Given the description of an element on the screen output the (x, y) to click on. 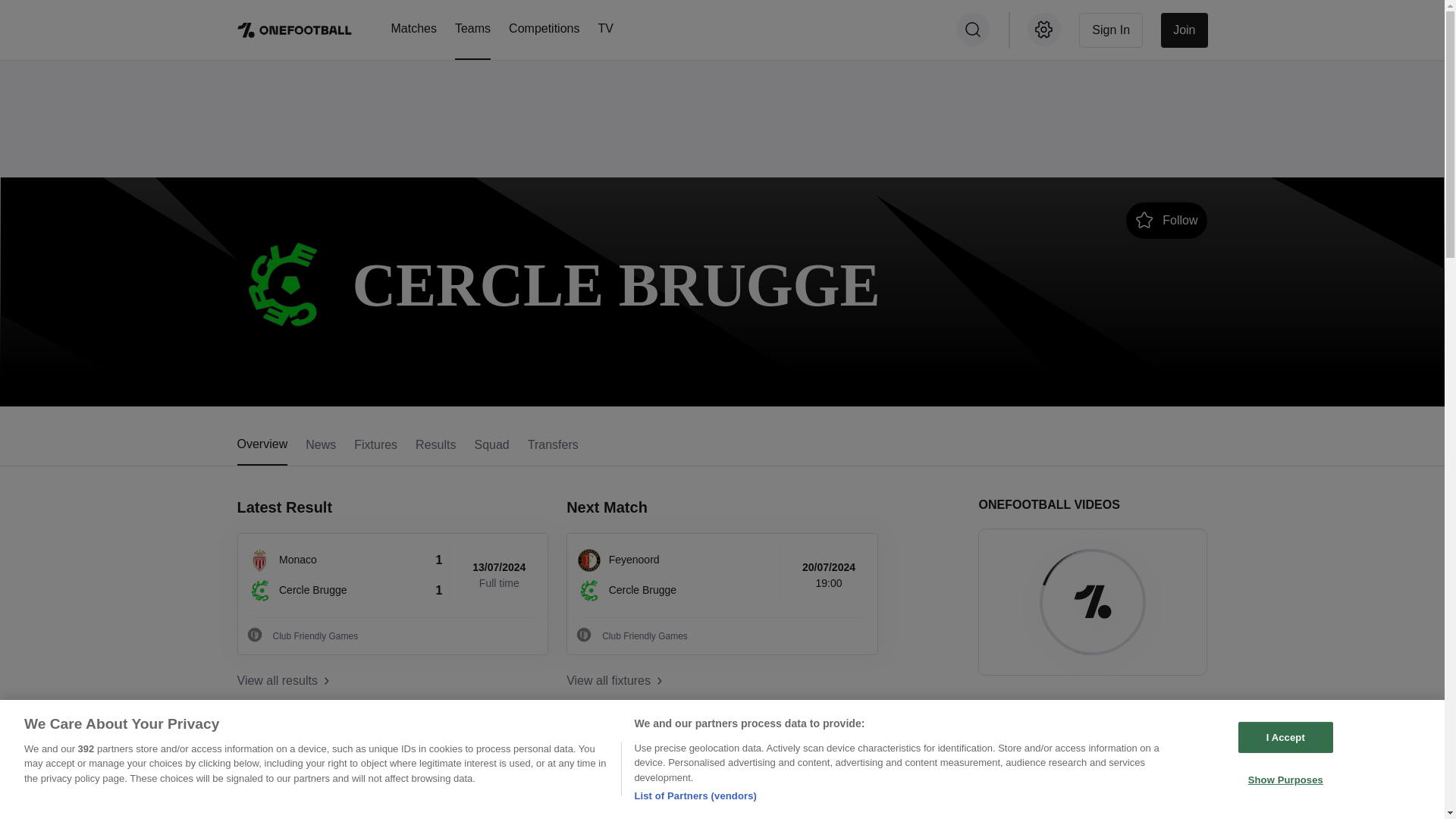
Squad (491, 451)
Overview (260, 451)
Matches (413, 28)
Sign In (1110, 29)
Settings (1044, 28)
Fixtures (375, 451)
View all results (391, 680)
View all fixtures (721, 680)
Follow (1166, 220)
Results (434, 451)
